Given the description of an element on the screen output the (x, y) to click on. 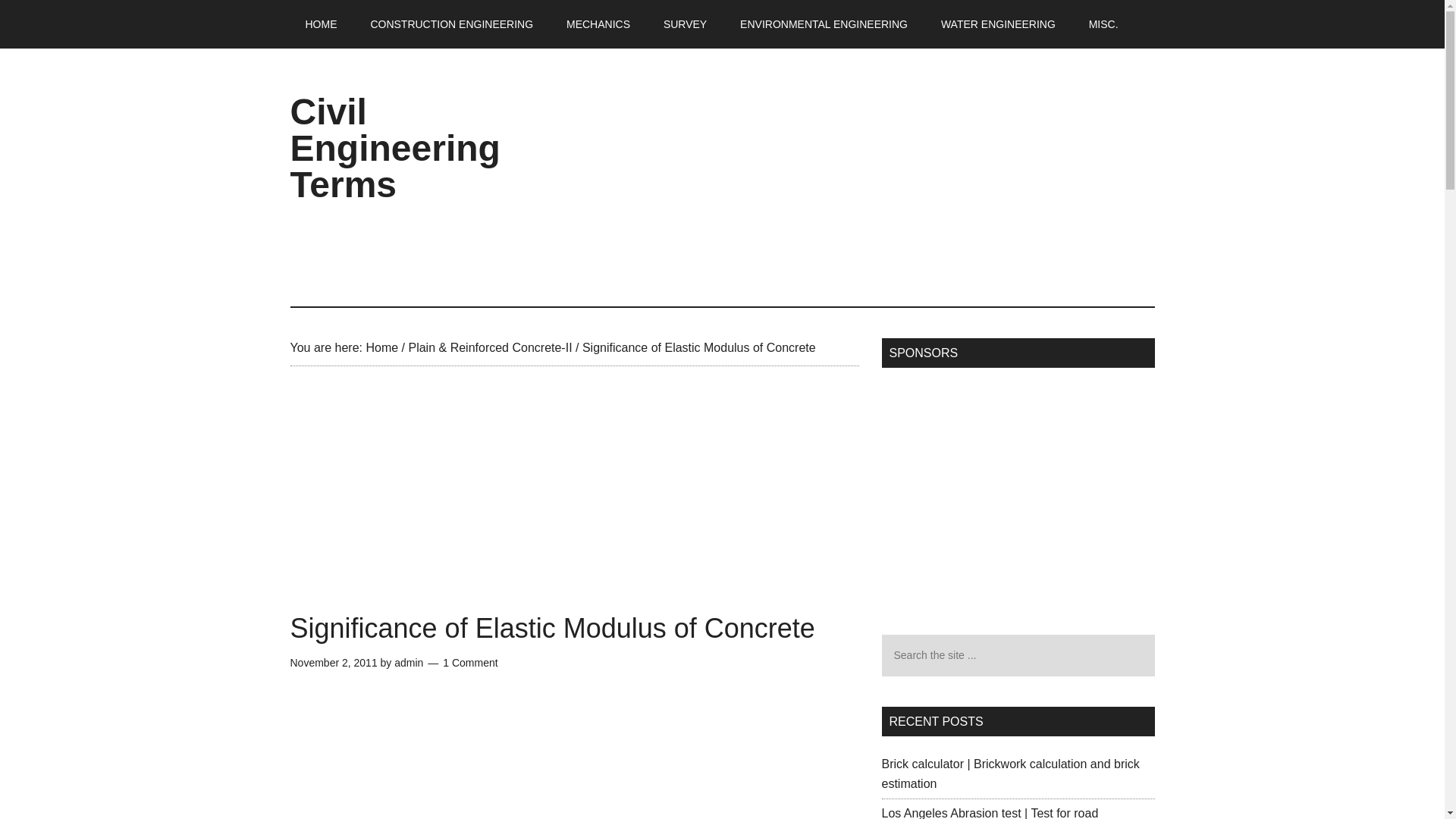
CONSTRUCTION ENGINEERING (451, 24)
WATER ENGINEERING (998, 24)
MECHANICS (598, 24)
HOME (320, 24)
ENVIRONMENTAL ENGINEERING (824, 24)
SURVEY (684, 24)
MISC. (1104, 24)
